Given the description of an element on the screen output the (x, y) to click on. 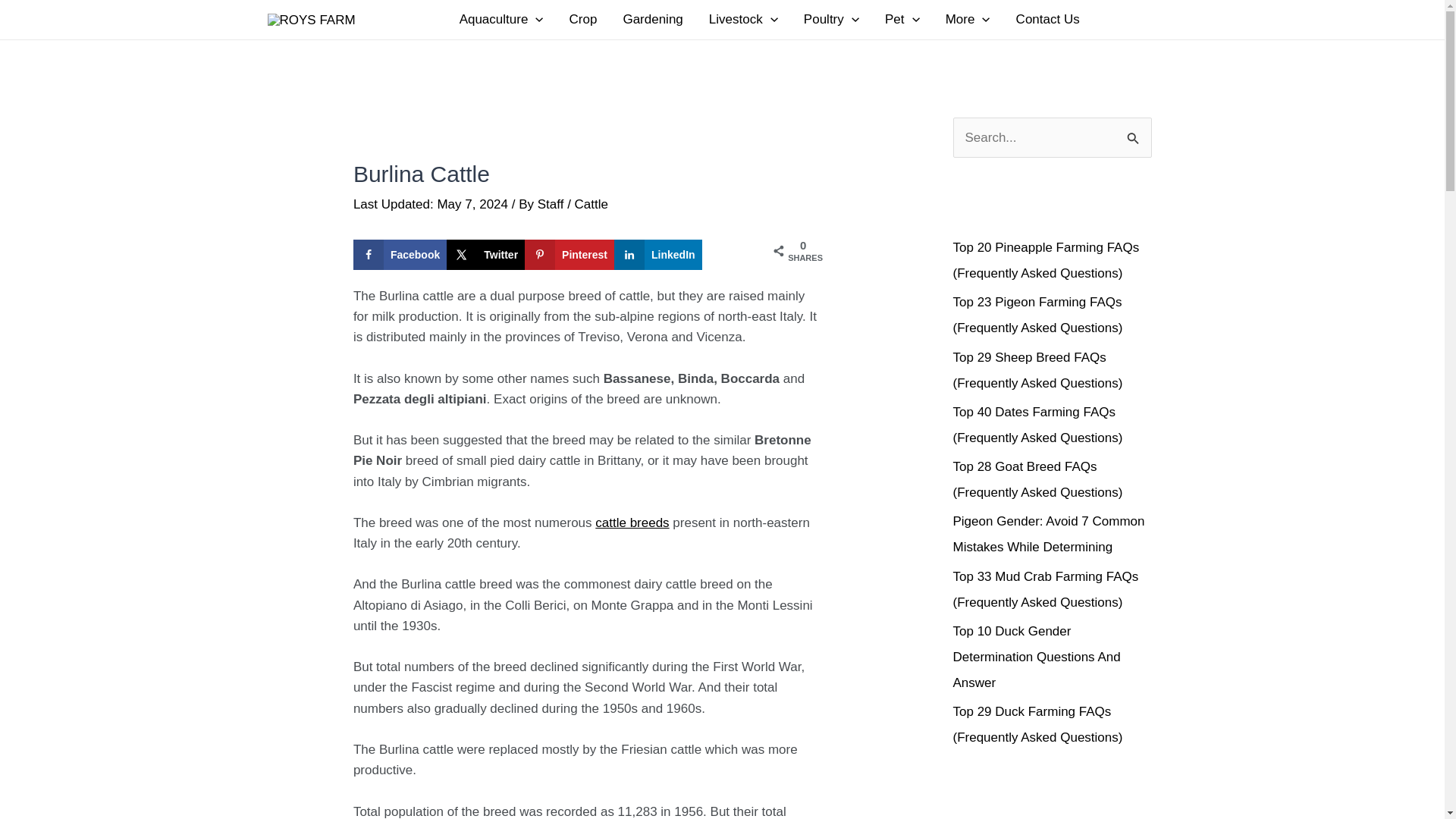
Share on Facebook (399, 254)
More (968, 19)
Pet (902, 19)
Share on LinkedIn (657, 254)
Save to Pinterest (569, 254)
Aquaculture (501, 19)
Search (1134, 133)
Poultry (831, 19)
Gardening (652, 19)
Share on X (485, 254)
Crop (583, 19)
View all posts by Staff (552, 204)
Livestock (742, 19)
Search (1134, 133)
